Given the description of an element on the screen output the (x, y) to click on. 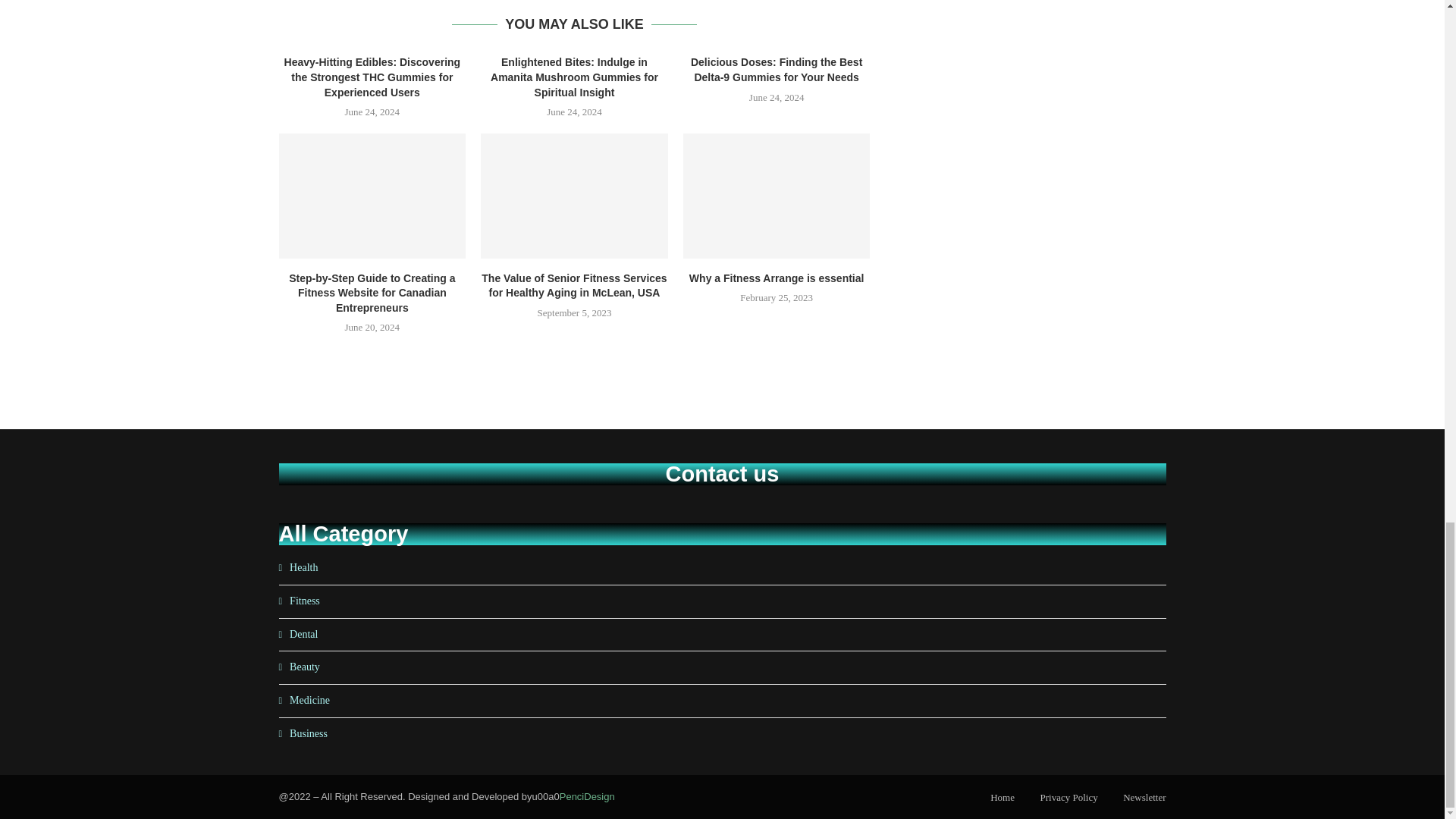
Why a Fitness Arrange is essential (776, 195)
